Given the description of an element on the screen output the (x, y) to click on. 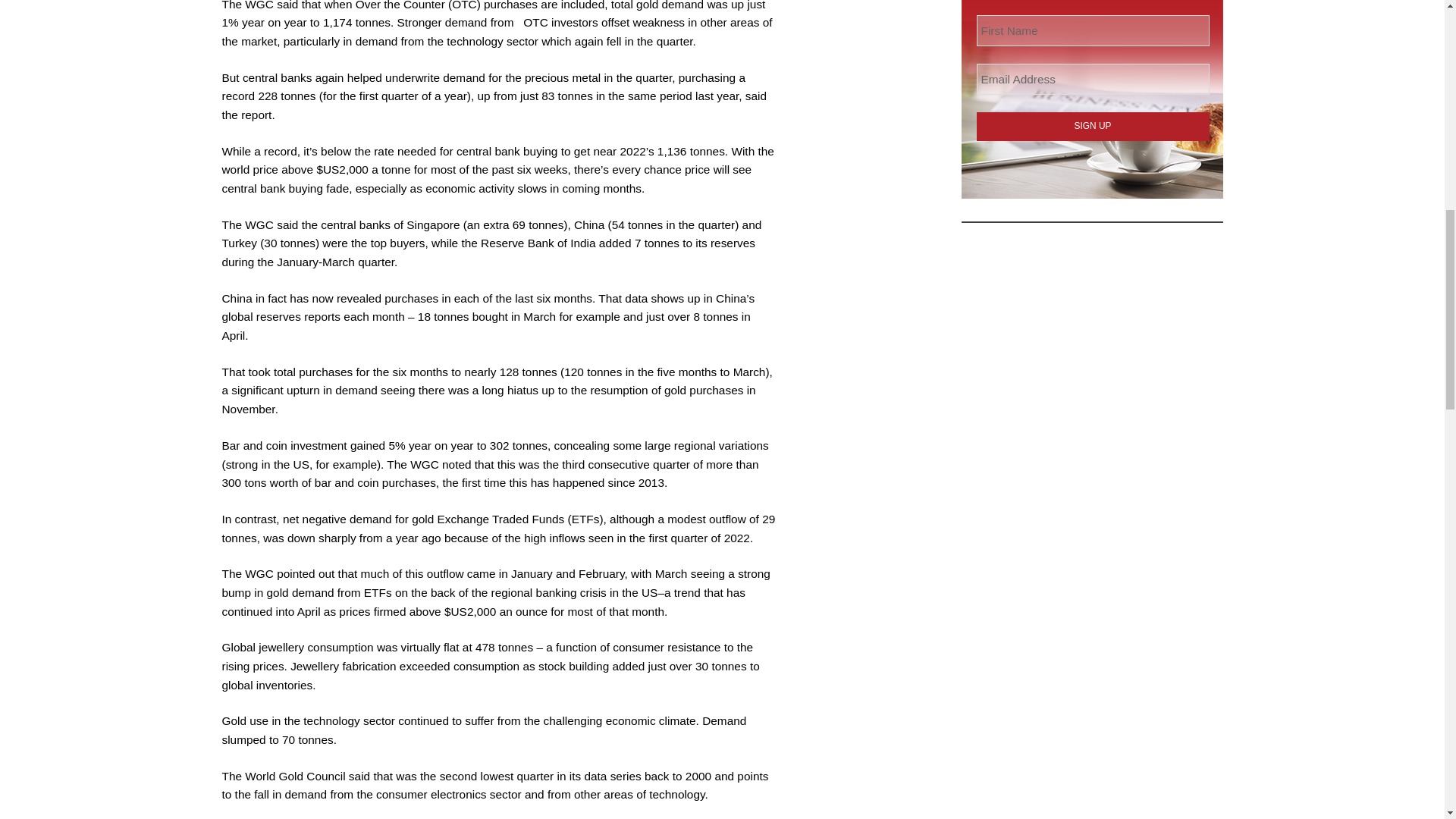
First Name (1092, 30)
SIGN UP (1092, 126)
Email Address (1092, 79)
